Given the description of an element on the screen output the (x, y) to click on. 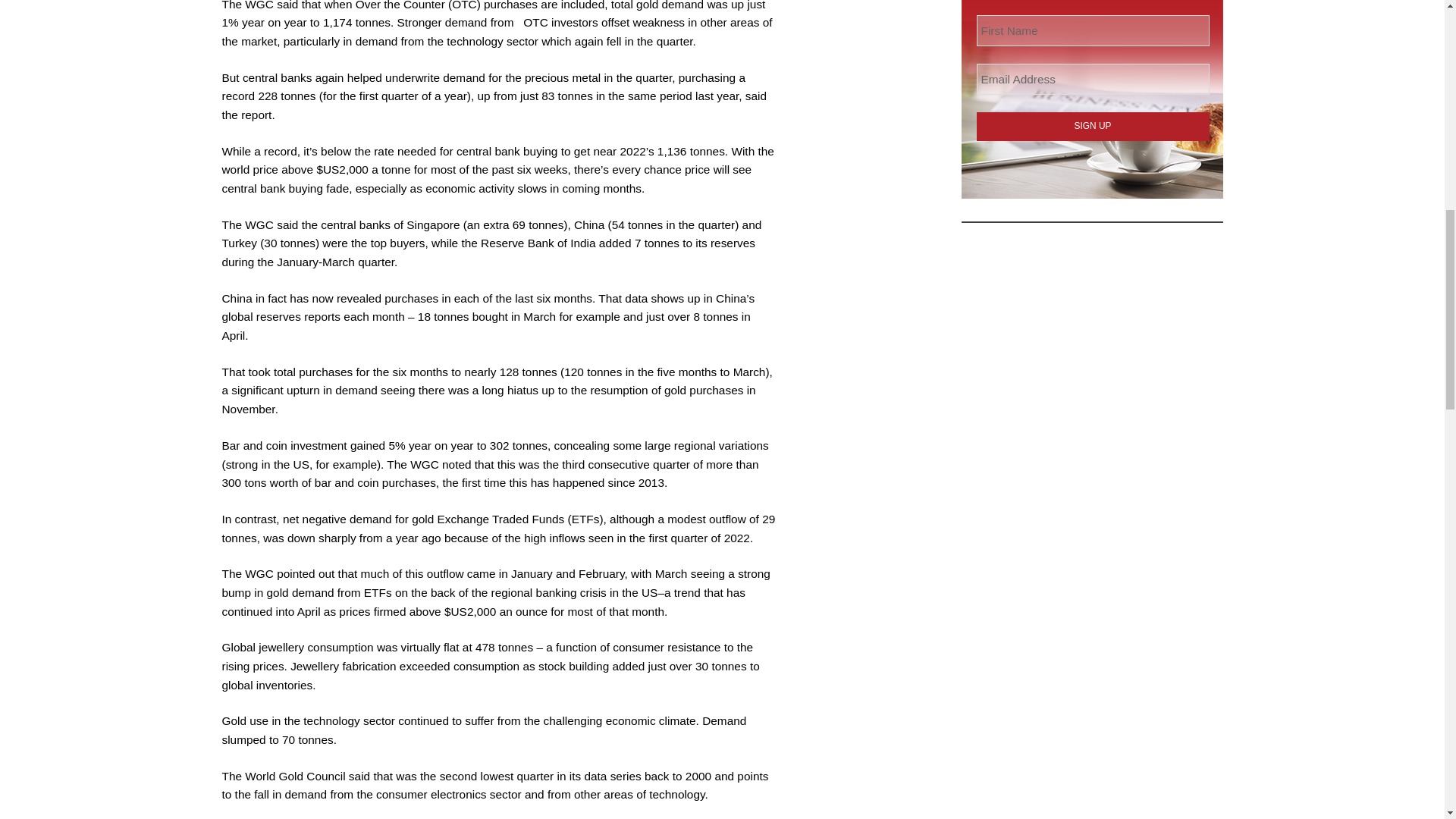
First Name (1092, 30)
SIGN UP (1092, 126)
Email Address (1092, 79)
